Given the description of an element on the screen output the (x, y) to click on. 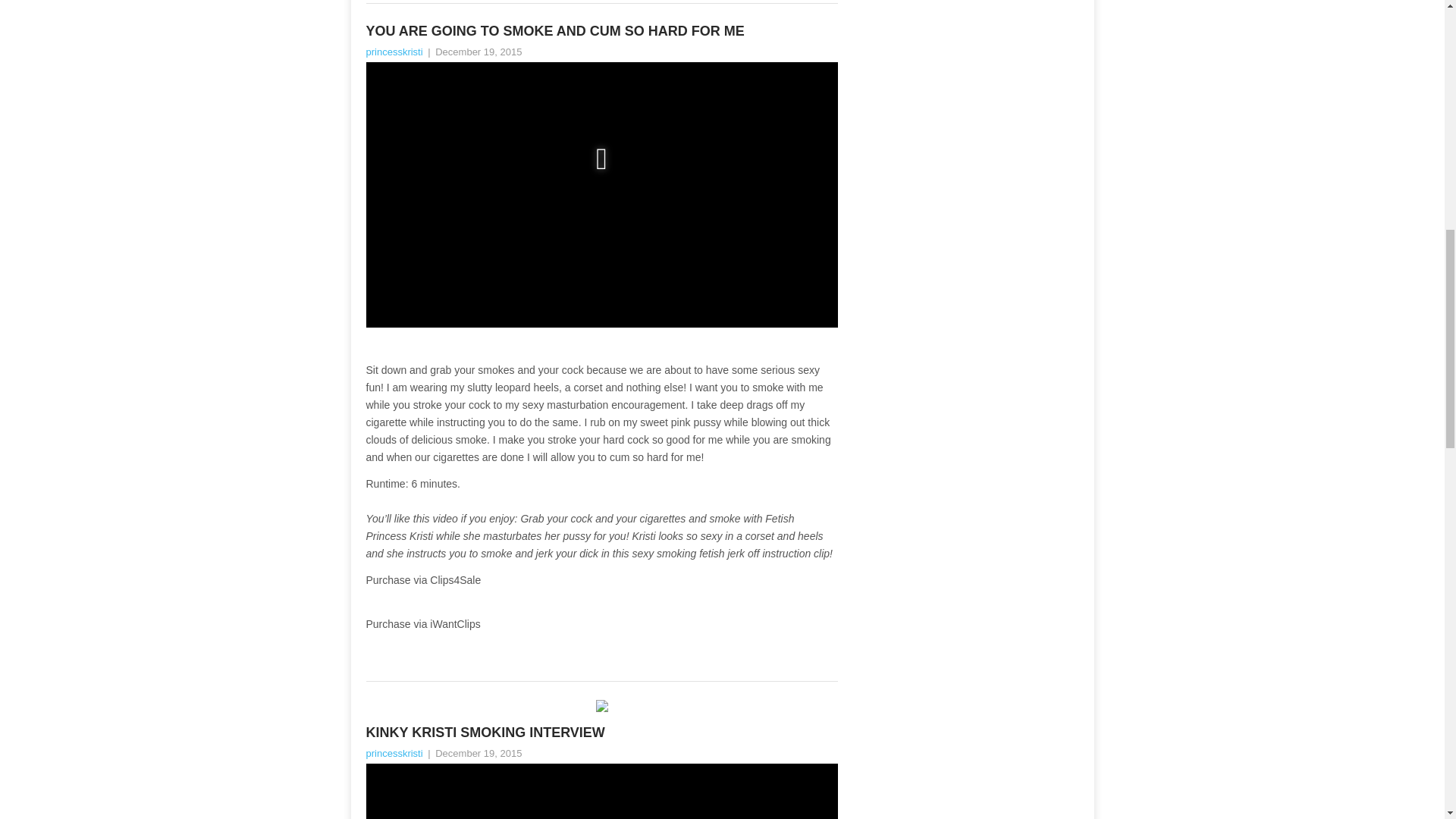
Kinky Kristi Smoking Interview (601, 732)
Posts by princesskristi (393, 753)
Posts by princesskristi (393, 51)
You Are Going to Smoke and Cum SO Hard For Me (601, 31)
